Given the description of an element on the screen output the (x, y) to click on. 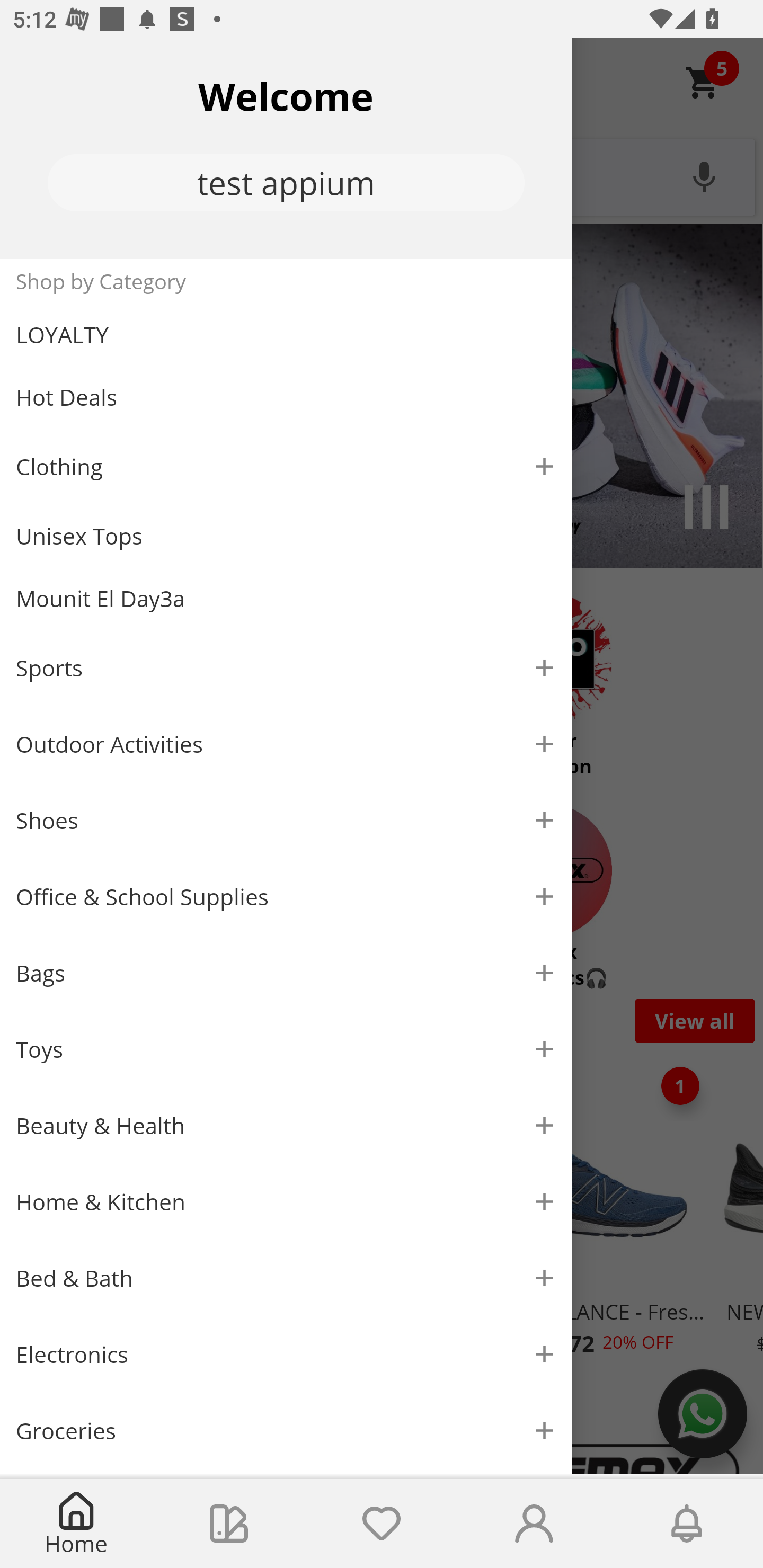
Welcome test appium (286, 147)
What are you looking for? (381, 175)
LOYALTY (286, 334)
Hot Deals (286, 396)
Clothing (286, 466)
Unisex Tops (286, 535)
Mounit El Day3a (286, 598)
Sports (286, 667)
Outdoor Activities (286, 743)
Shoes (286, 820)
Office & School Supplies (286, 896)
Bags (286, 972)
Toys (286, 1049)
Beauty & Health (286, 1125)
Home & Kitchen (286, 1201)
Bed & Bath (286, 1278)
Electronics (286, 1354)
Groceries (286, 1430)
Collections (228, 1523)
Wishlist (381, 1523)
Account (533, 1523)
Notifications (686, 1523)
